Given the description of an element on the screen output the (x, y) to click on. 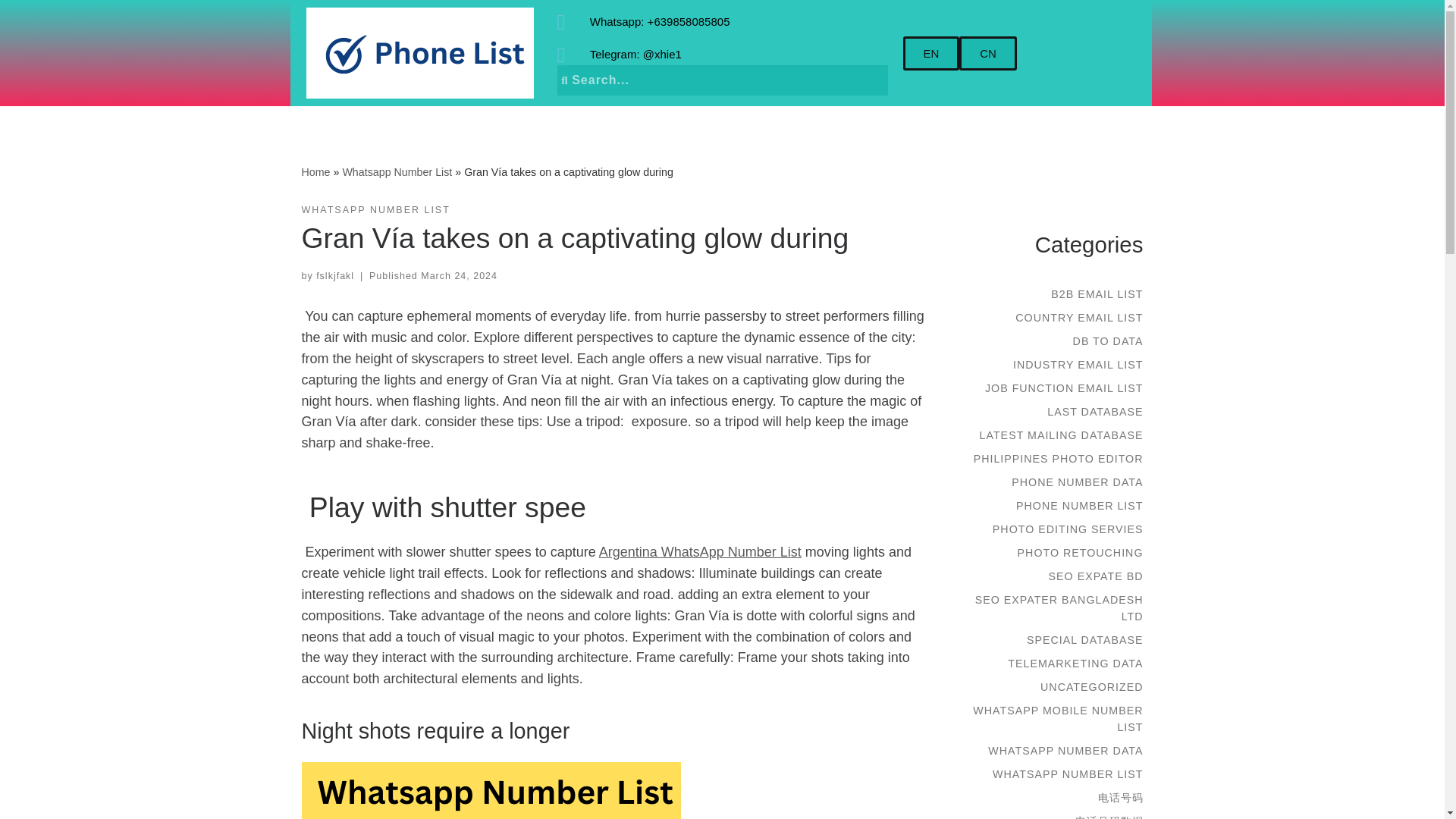
WHATSAPP NUMBER LIST (375, 210)
Whatsapp Number List (396, 171)
CN (987, 53)
Argentina WhatsApp Number List (700, 551)
3:29 am (458, 276)
Whatsapp Number List (396, 171)
Phone List (315, 171)
EN (930, 53)
Home (315, 171)
View all posts by fslkjfakl (334, 276)
